Given the description of an element on the screen output the (x, y) to click on. 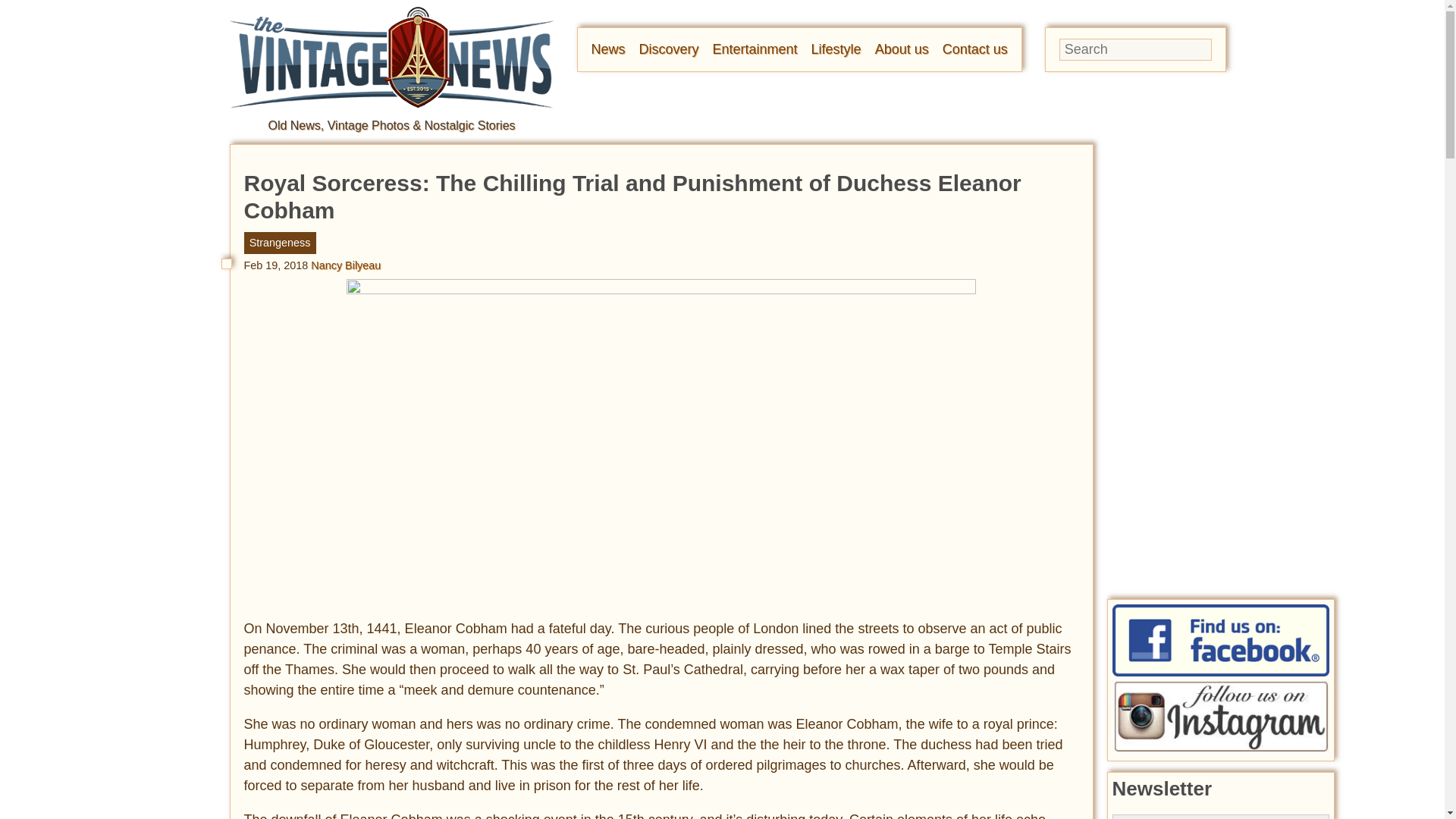
Lifestyle (835, 48)
About us (901, 48)
Discovery (668, 48)
News (608, 48)
Entertainment (755, 48)
Contact us (974, 48)
